Given the description of an element on the screen output the (x, y) to click on. 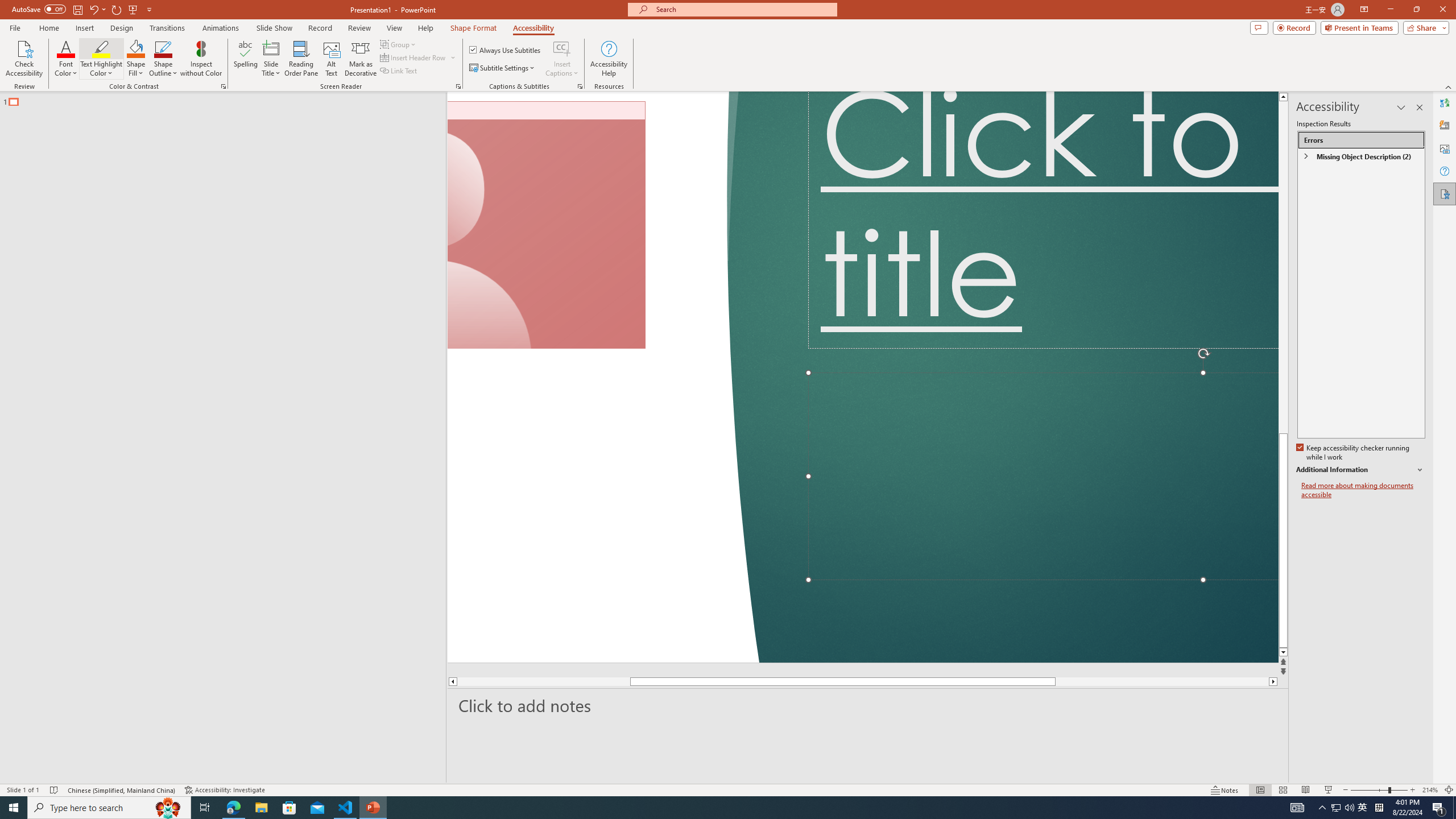
Mark as Decorative (360, 58)
Always Use Subtitles (505, 49)
